Given the description of an element on the screen output the (x, y) to click on. 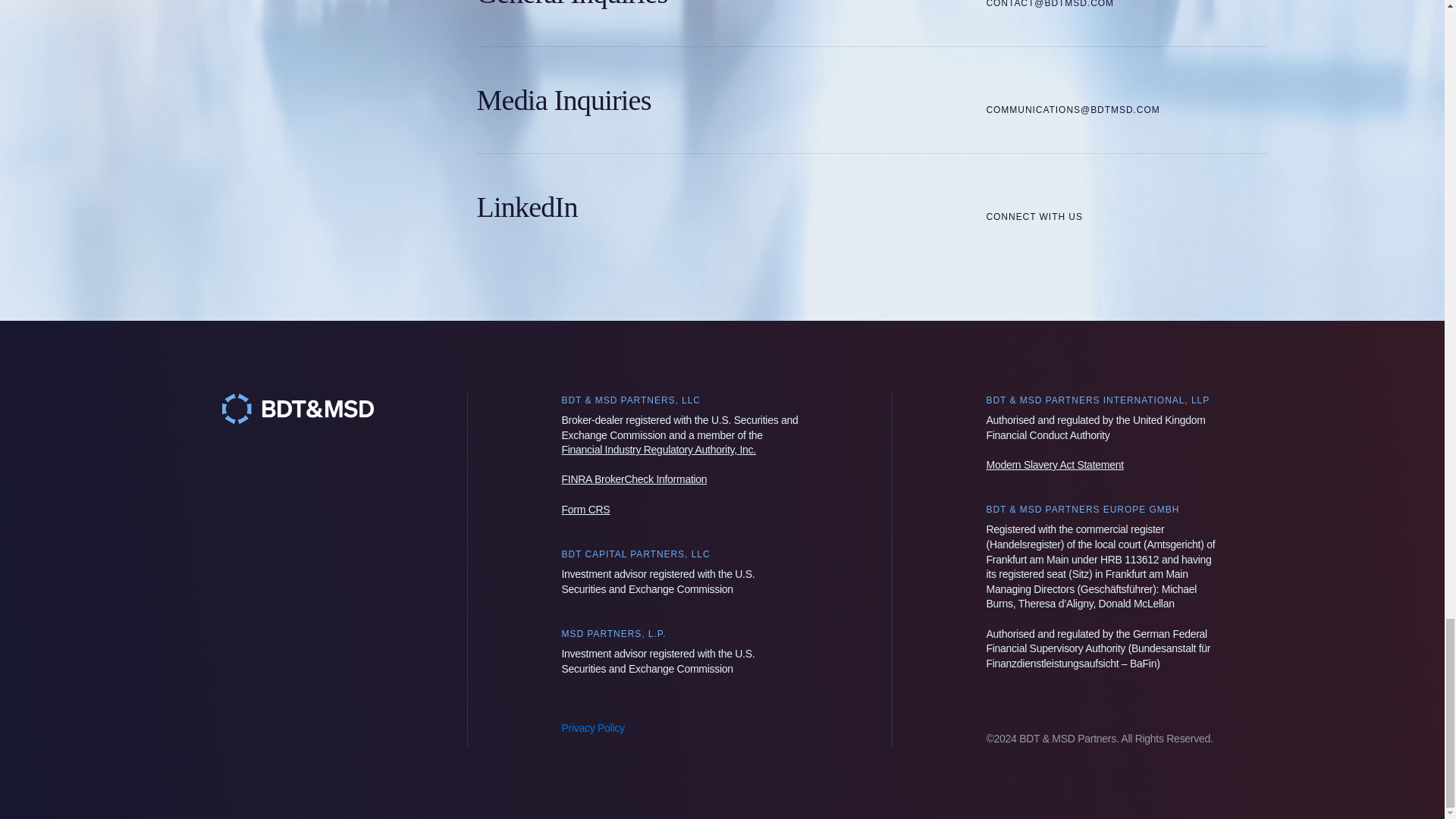
Privacy Policy (592, 727)
Modern Slavery Act Statement (1053, 464)
FINRA BrokerCheck Information (633, 479)
Financial Industry Regulatory Authority, Inc. (657, 449)
CONNECT WITH US (1034, 206)
Form CRS (585, 509)
